Given the description of an element on the screen output the (x, y) to click on. 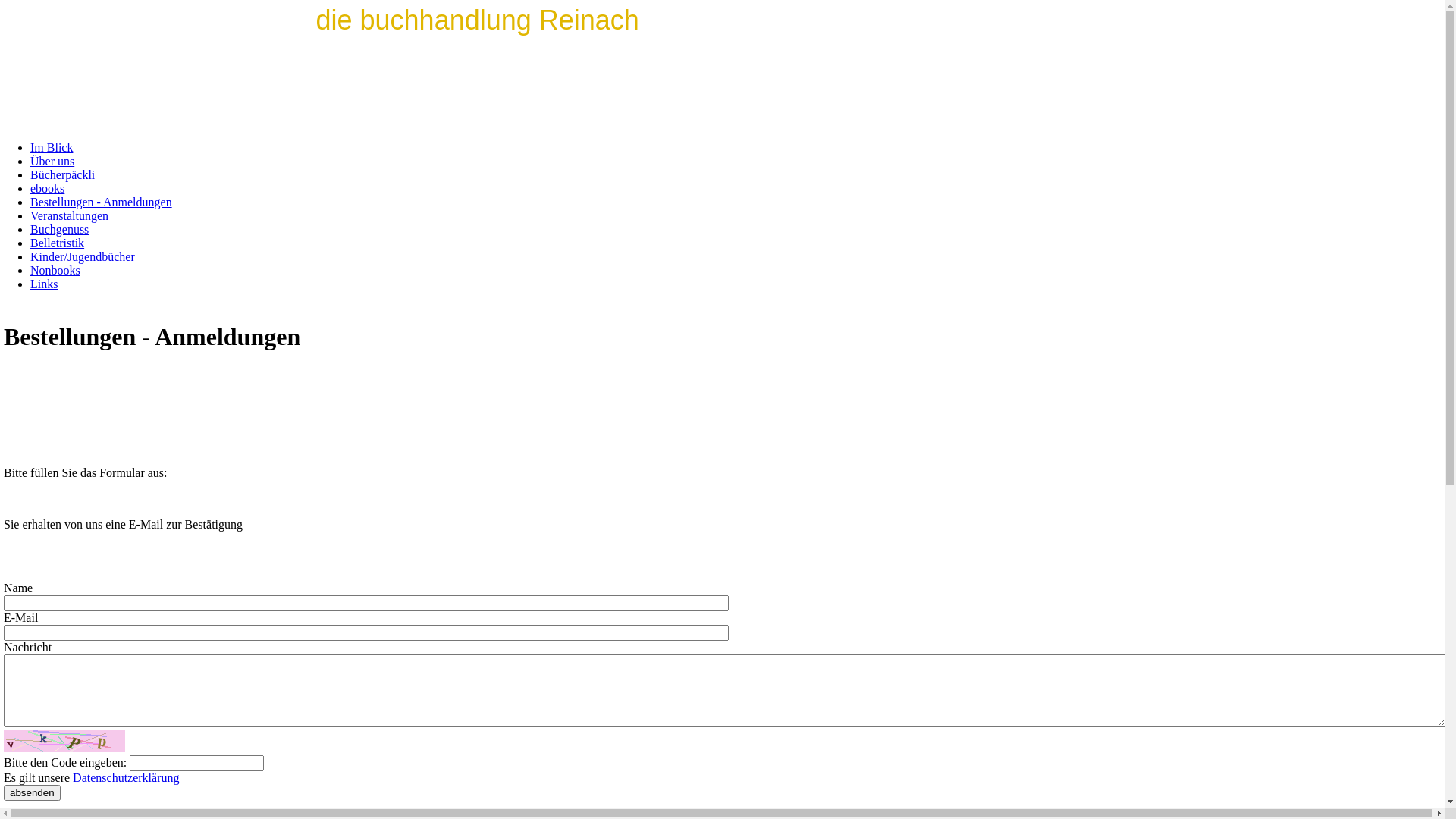
Buchgenuss Element type: text (59, 228)
absenden Element type: text (31, 792)
Im Blick Element type: text (51, 147)
Bestellungen - Anmeldungen Element type: text (101, 201)
Links Element type: text (43, 283)
ebooks Element type: text (47, 188)
Veranstaltungen Element type: text (69, 215)
Belletristik Element type: text (57, 242)
Nonbooks Element type: text (55, 269)
